Given the description of an element on the screen output the (x, y) to click on. 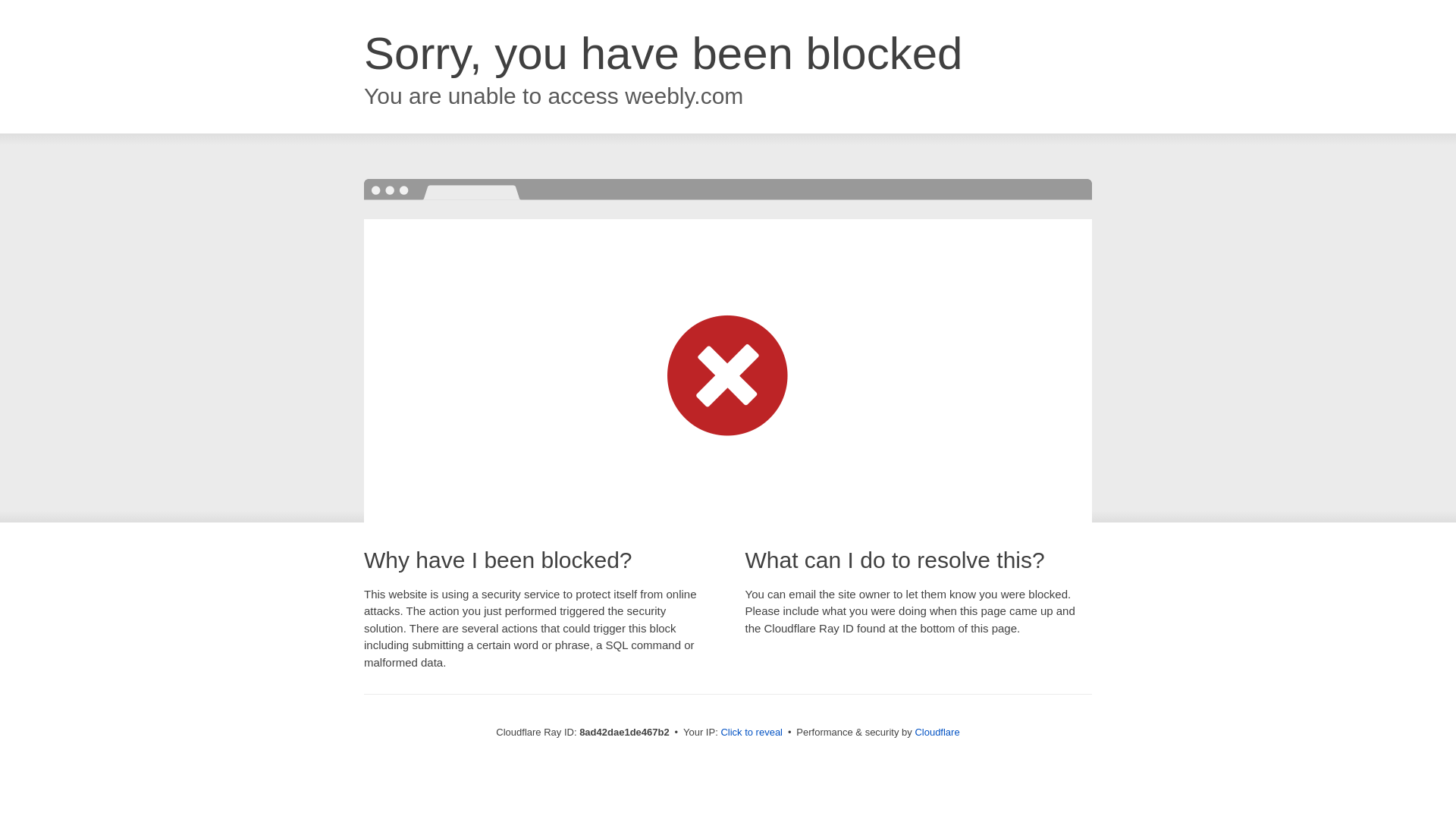
Cloudflare (936, 731)
Click to reveal (751, 732)
